Given the description of an element on the screen output the (x, y) to click on. 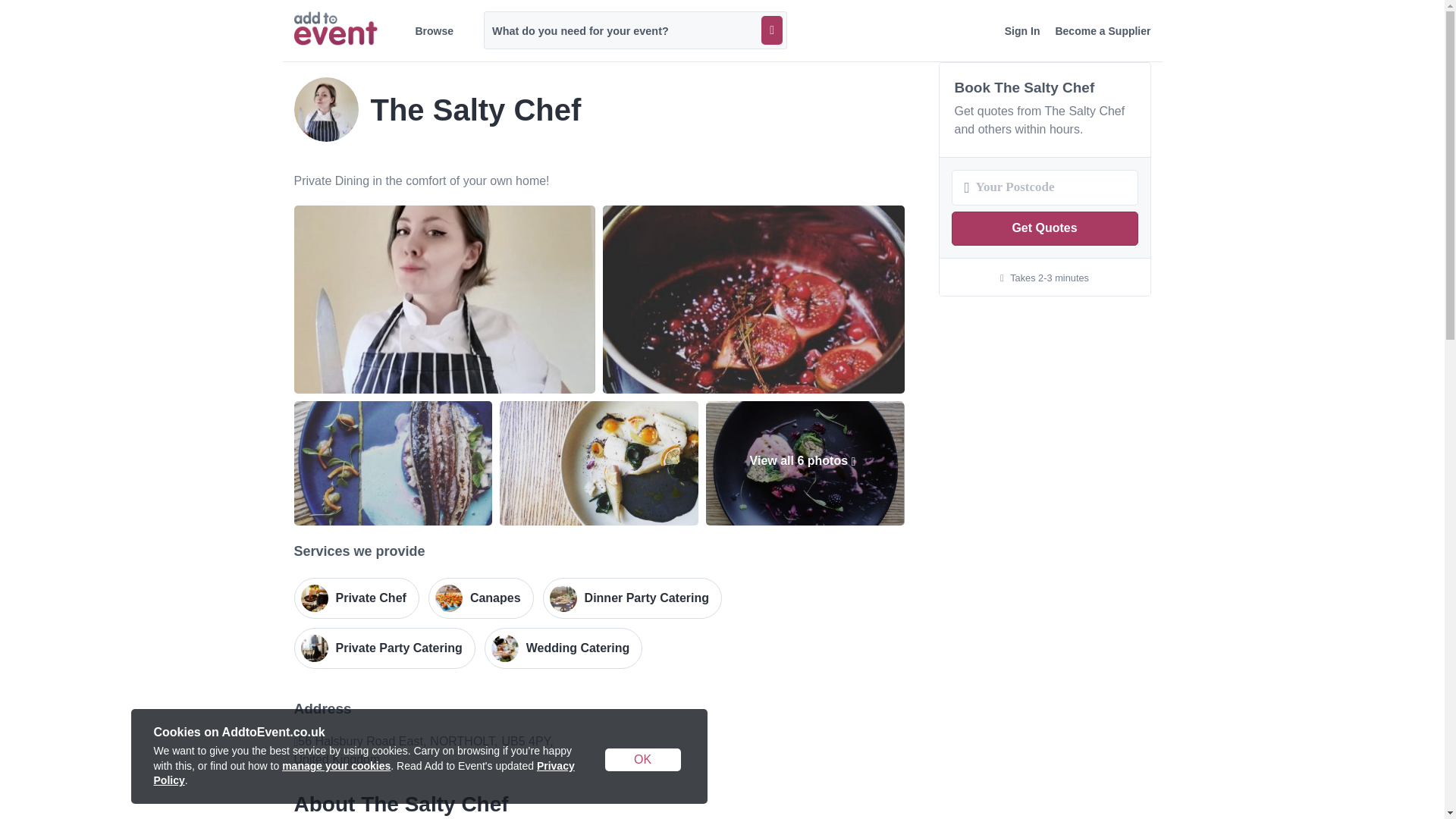
Get Quotes (1043, 228)
Become a Supplier (1102, 31)
Private Party Catering (385, 648)
Private Chef (356, 598)
Home (335, 28)
OK (643, 759)
Privacy Policy (362, 773)
Canapes (481, 598)
What do you need for your event? (635, 30)
Dinner Party Catering (632, 598)
manage your cookies (336, 766)
